Given the description of an element on the screen output the (x, y) to click on. 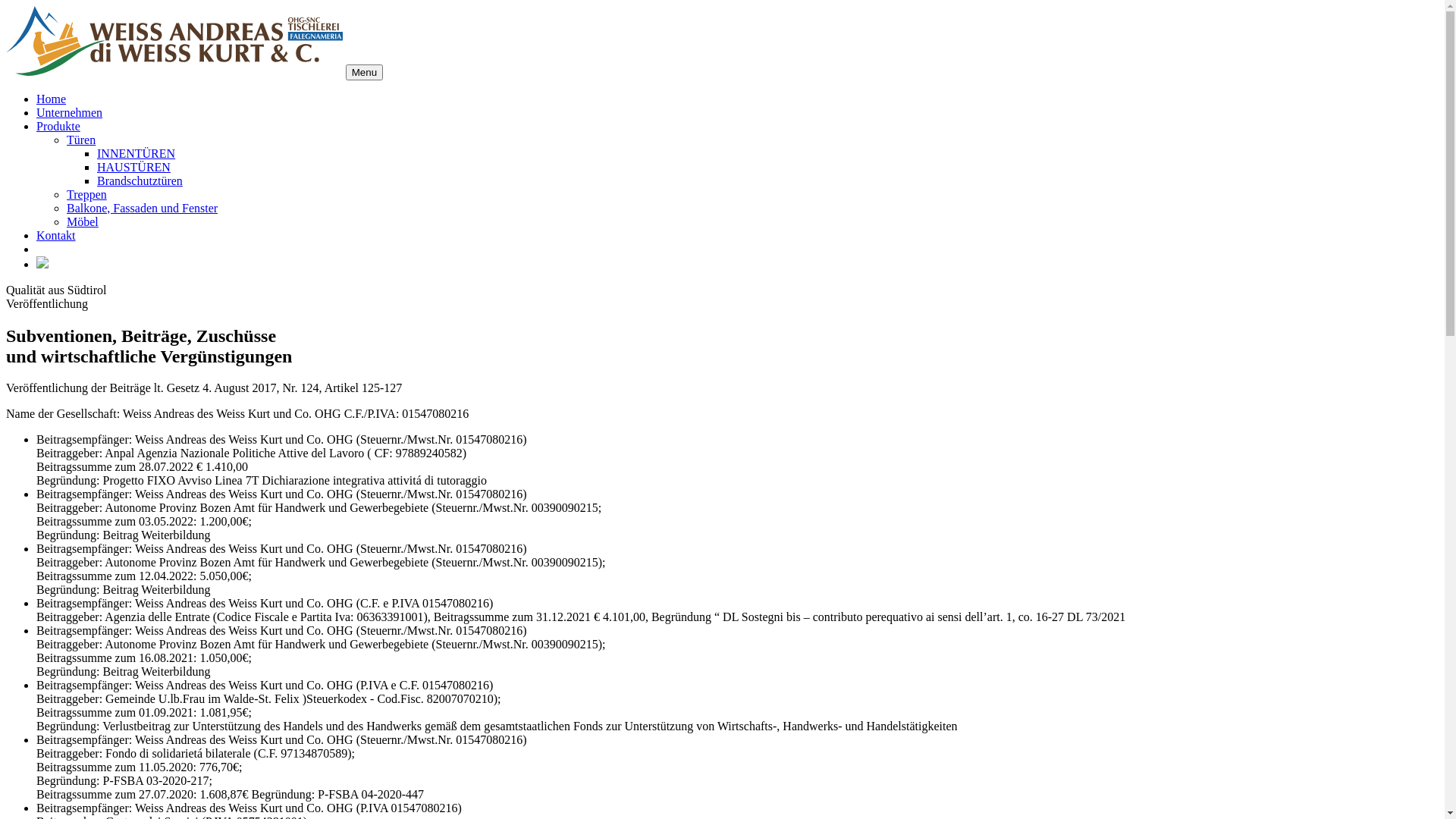
Unternehmen Element type: text (69, 112)
Home Element type: text (50, 98)
Balkone, Fassaden und Fenster Element type: text (141, 207)
Menu Element type: text (363, 72)
Treppen Element type: text (86, 194)
Produkte Element type: text (58, 125)
Kontakt Element type: text (55, 235)
